Given the description of an element on the screen output the (x, y) to click on. 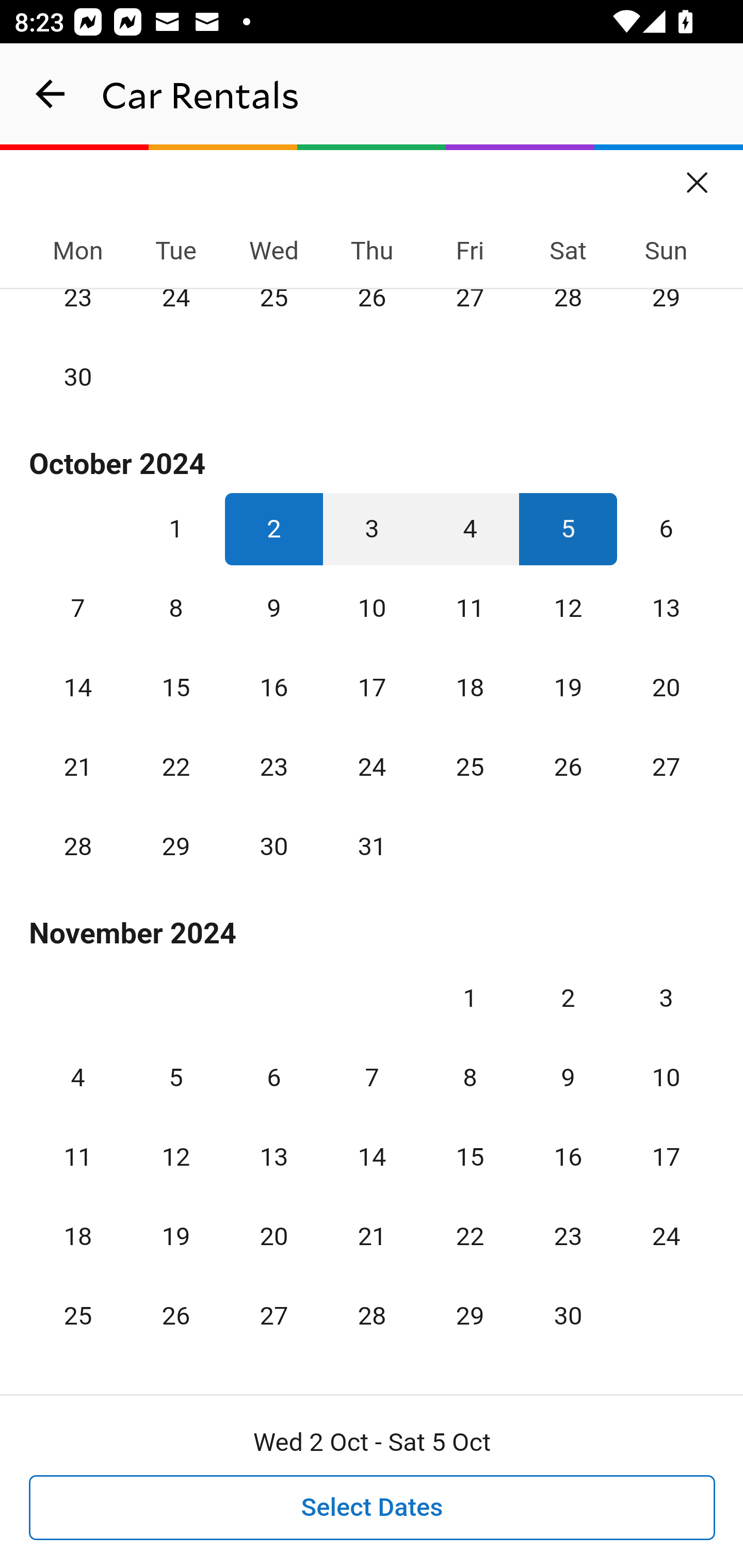
navigation_button (50, 93)
Close (697, 176)
23 September 2024 (77, 310)
24 September 2024 (175, 310)
25 September 2024 (273, 310)
26 September 2024 (371, 310)
27 September 2024 (470, 310)
28 September 2024 (567, 310)
29 September 2024 (665, 310)
30 September 2024 (77, 375)
1 October 2024 (175, 528)
2 October 2024 (273, 528)
3 October 2024 (371, 528)
4 October 2024 (470, 528)
5 October 2024 (567, 528)
6 October 2024 (665, 528)
7 October 2024 (77, 607)
8 October 2024 (175, 607)
9 October 2024 (273, 607)
10 October 2024 (371, 607)
11 October 2024 (470, 607)
12 October 2024 (567, 607)
13 October 2024 (665, 607)
14 October 2024 (77, 686)
15 October 2024 (175, 686)
16 October 2024 (273, 686)
17 October 2024 (371, 686)
18 October 2024 (470, 686)
19 October 2024 (567, 686)
20 October 2024 (665, 686)
21 October 2024 (77, 766)
22 October 2024 (175, 766)
23 October 2024 (273, 766)
24 October 2024 (371, 766)
25 October 2024 (470, 766)
26 October 2024 (567, 766)
27 October 2024 (665, 766)
28 October 2024 (77, 846)
29 October 2024 (175, 846)
30 October 2024 (273, 846)
31 October 2024 (371, 846)
1 November 2024 (470, 997)
2 November 2024 (567, 997)
3 November 2024 (665, 997)
4 November 2024 (77, 1076)
5 November 2024 (175, 1076)
6 November 2024 (273, 1076)
7 November 2024 (371, 1076)
8 November 2024 (470, 1076)
9 November 2024 (567, 1076)
10 November 2024 (665, 1076)
11 November 2024 (77, 1156)
12 November 2024 (175, 1156)
13 November 2024 (273, 1156)
14 November 2024 (371, 1156)
15 November 2024 (470, 1156)
16 November 2024 (567, 1156)
17 November 2024 (665, 1156)
18 November 2024 (77, 1235)
19 November 2024 (175, 1235)
20 November 2024 (273, 1235)
21 November 2024 (371, 1235)
22 November 2024 (470, 1235)
23 November 2024 (567, 1235)
24 November 2024 (665, 1235)
25 November 2024 (77, 1314)
26 November 2024 (175, 1314)
27 November 2024 (273, 1314)
28 November 2024 (371, 1314)
29 November 2024 (470, 1314)
30 November 2024 (567, 1314)
Select Dates (372, 1508)
